Given the description of an element on the screen output the (x, y) to click on. 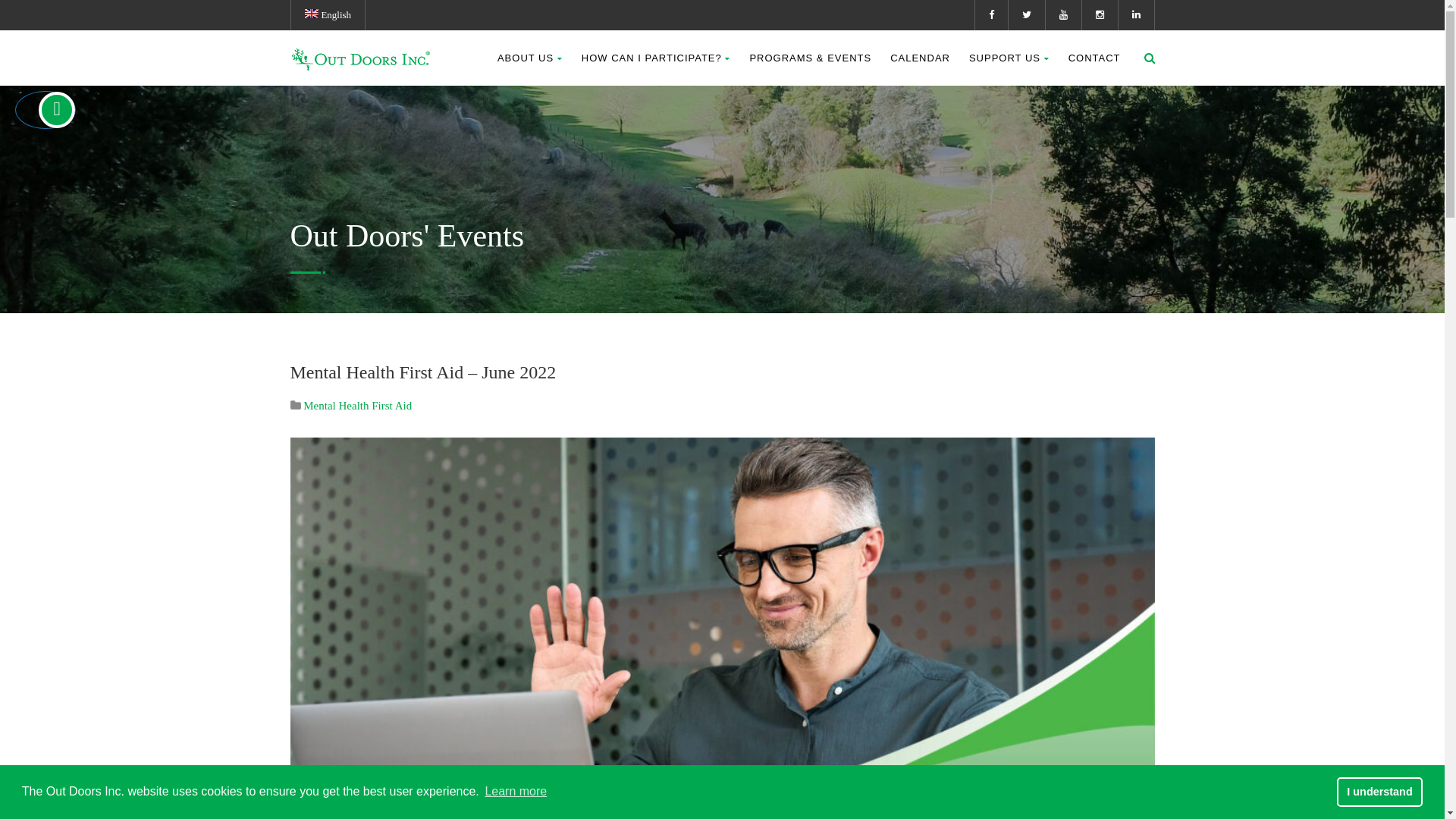
I understand Element type: text (1379, 791)
CONTACT Element type: text (1094, 58)
PROGRAMS & EVENTS Element type: text (810, 58)
Learn more Element type: text (515, 791)
English Element type: text (328, 15)
Mental Health First Aid Element type: text (357, 405)
ABOUT US Element type: text (529, 58)
CALENDAR Element type: text (920, 58)
HOW CAN I PARTICIPATE? Element type: text (656, 58)
SUPPORT US Element type: text (1009, 58)
